Given the description of an element on the screen output the (x, y) to click on. 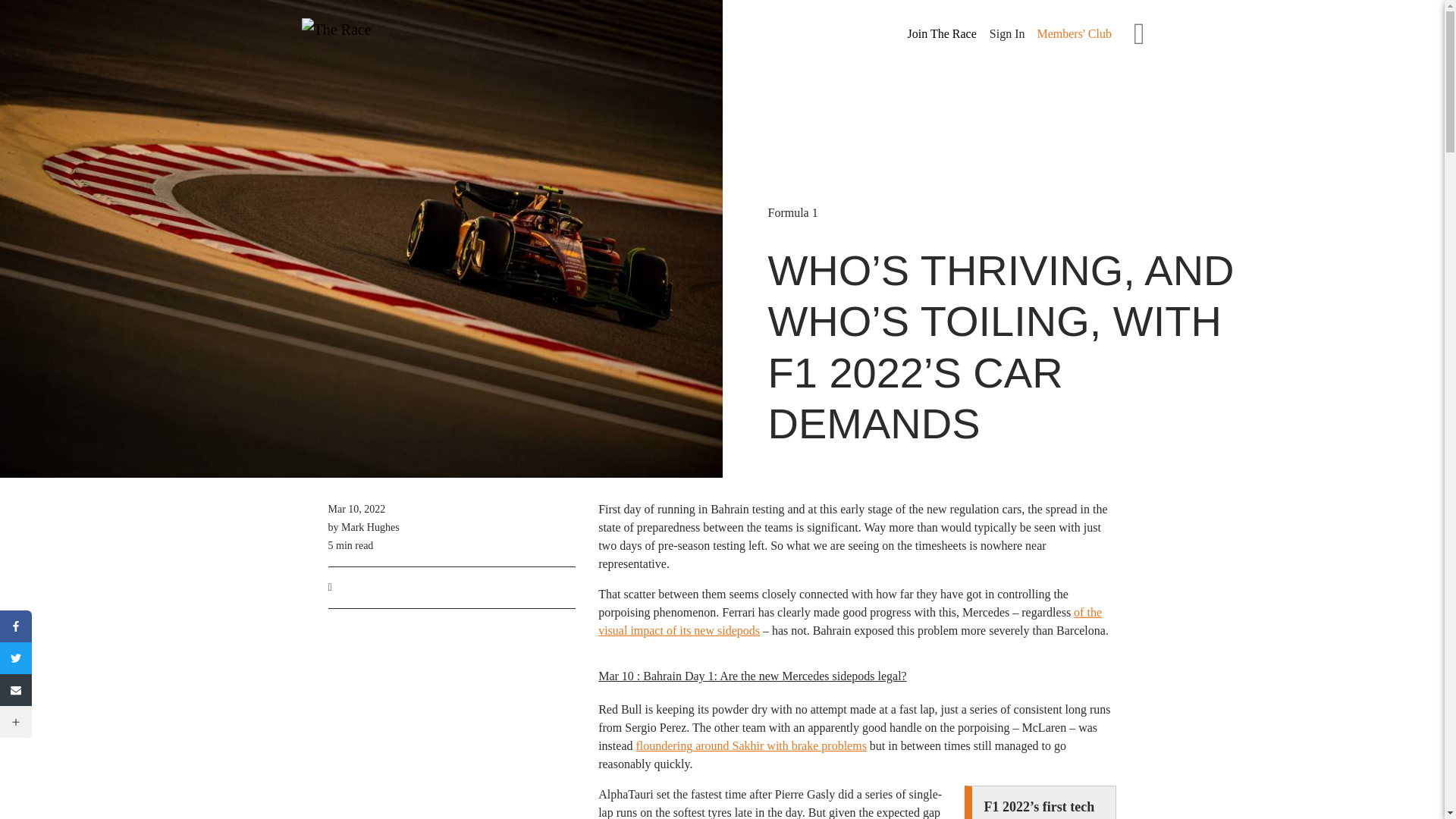
Members' Club (1073, 33)
Sign In (1007, 33)
floundering around Sakhir with brake problems (750, 745)
Join The Race (941, 34)
of the visual impact of its new sidepods (850, 621)
Mar 10 : Bahrain Day 1: Are the new Mercedes sidepods legal? (752, 675)
